Given the description of an element on the screen output the (x, y) to click on. 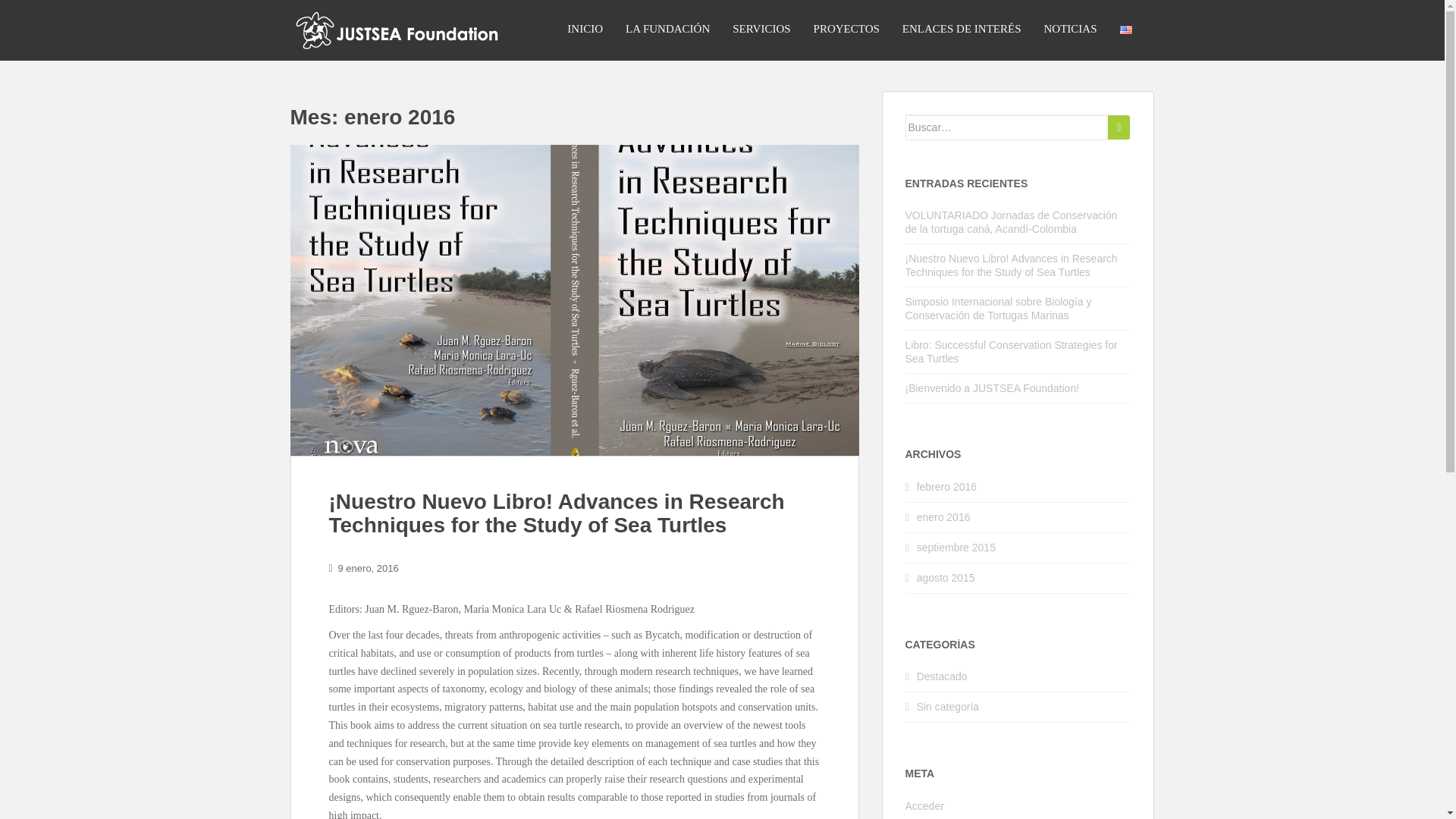
SERVICIOS (761, 28)
agosto 2015 (946, 577)
Buscar (1118, 127)
PROYECTOS (846, 28)
febrero 2016 (946, 486)
Buscar: (1006, 127)
Libro: Successful Conservation Strategies for Sea Turtles (1011, 351)
enero 2016 (944, 517)
English (1125, 29)
Inicio (585, 28)
Destacado (942, 676)
9 enero, 2016 (367, 568)
septiembre 2015 (956, 547)
Proyectos (846, 28)
Noticias (1070, 28)
